Given the description of an element on the screen output the (x, y) to click on. 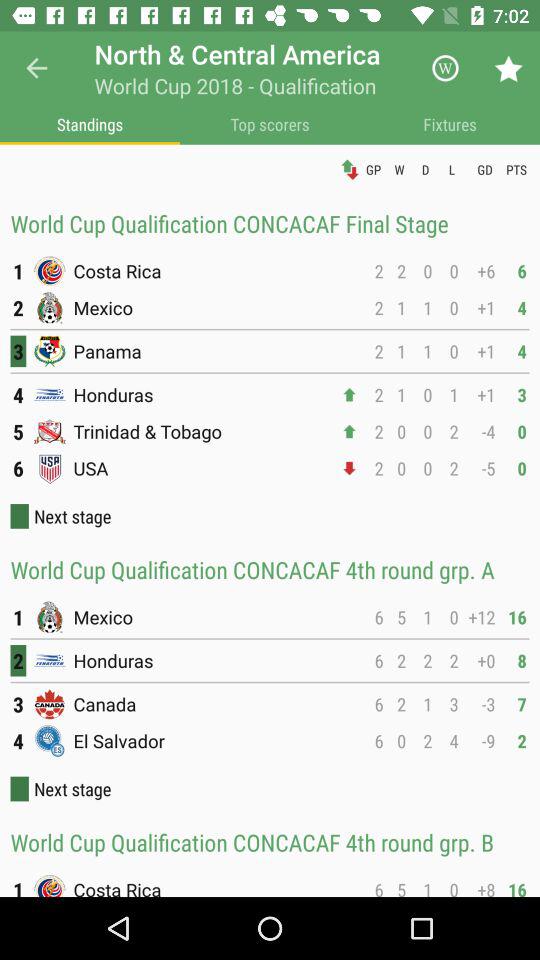
press the icon next to top scorers app (450, 124)
